Given the description of an element on the screen output the (x, y) to click on. 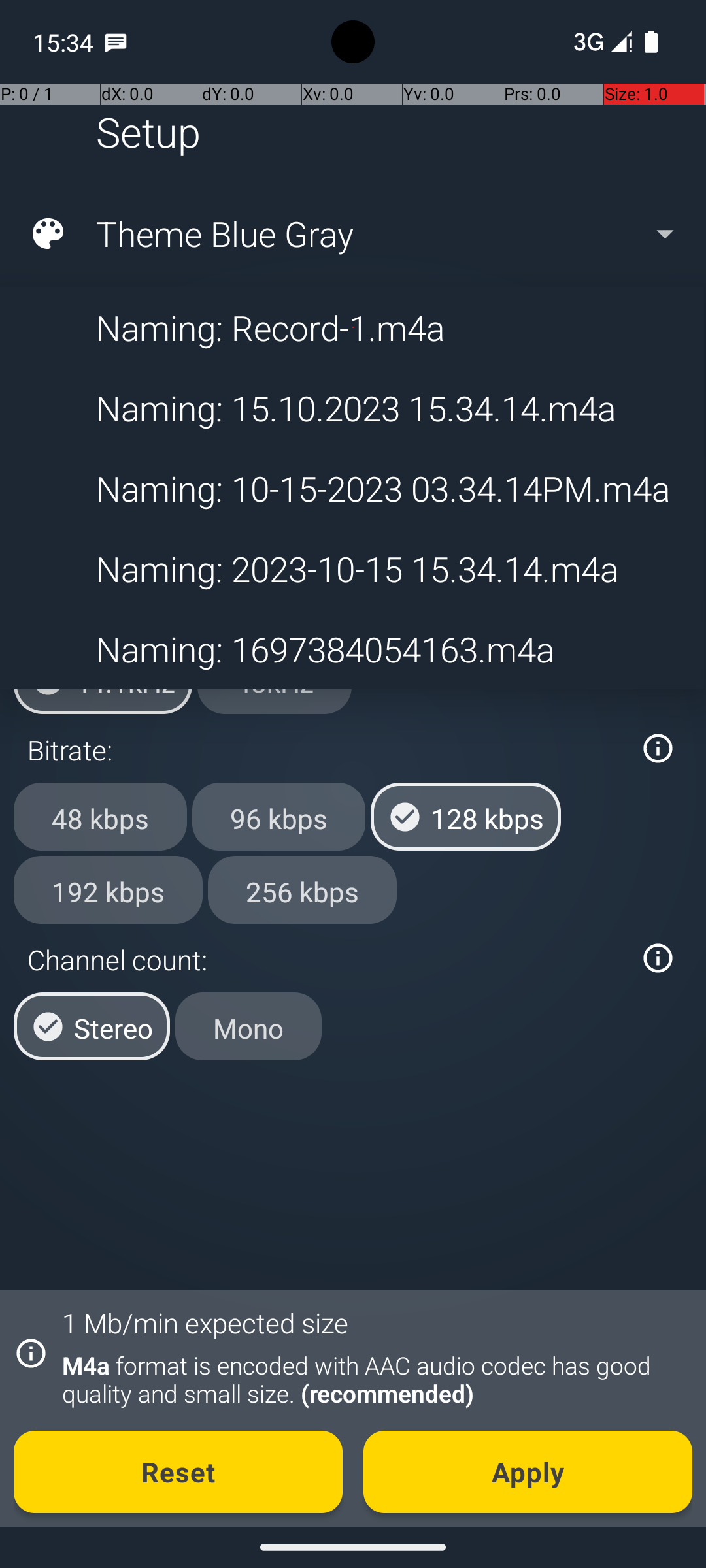
Naming: 15.10.2023 15.34.14.m4a Element type: android.widget.TextView (352, 407)
Naming: 10-15-2023 03.34.14PM.m4a Element type: android.widget.TextView (352, 488)
Naming: 2023-10-15 15.34.14.m4a Element type: android.widget.TextView (352, 568)
Naming: 1697384054163.m4a Element type: android.widget.TextView (352, 648)
Phone signal full. Element type: android.widget.FrameLayout (600, 41)
